Given the description of an element on the screen output the (x, y) to click on. 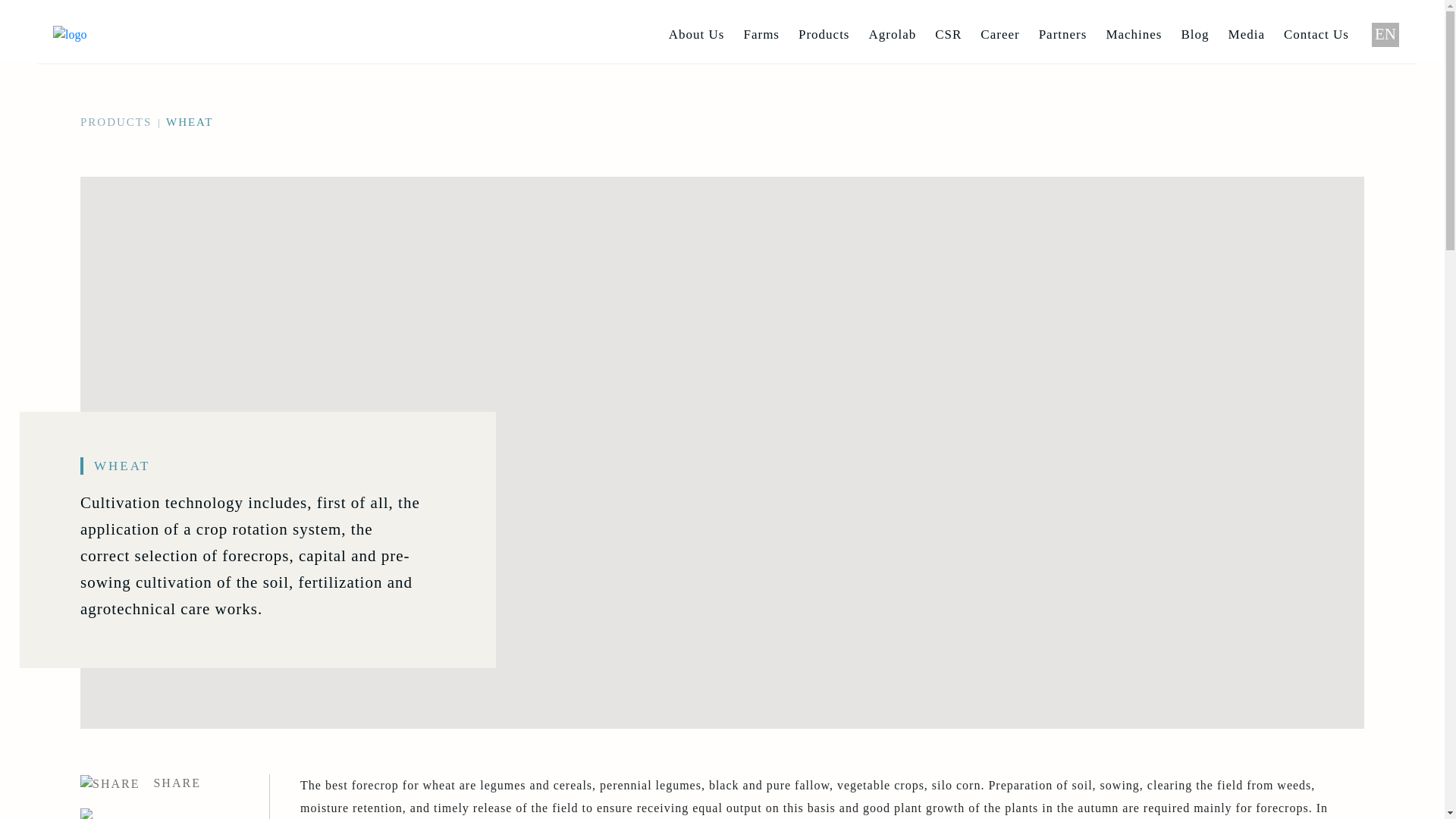
Media Element type: text (1246, 34)
About Us Element type: text (696, 34)
Blog Element type: text (1194, 34)
EN Element type: text (1385, 34)
Career Element type: text (999, 34)
Contact Us Element type: text (1316, 34)
WHEAT Element type: text (189, 122)
Products Element type: text (824, 34)
Partners Element type: text (1062, 34)
Agrolab Element type: text (892, 34)
PRODUCTS Element type: text (115, 122)
Farms Element type: text (761, 34)
CSR Element type: text (948, 34)
Machines Element type: text (1133, 34)
